Given the description of an element on the screen output the (x, y) to click on. 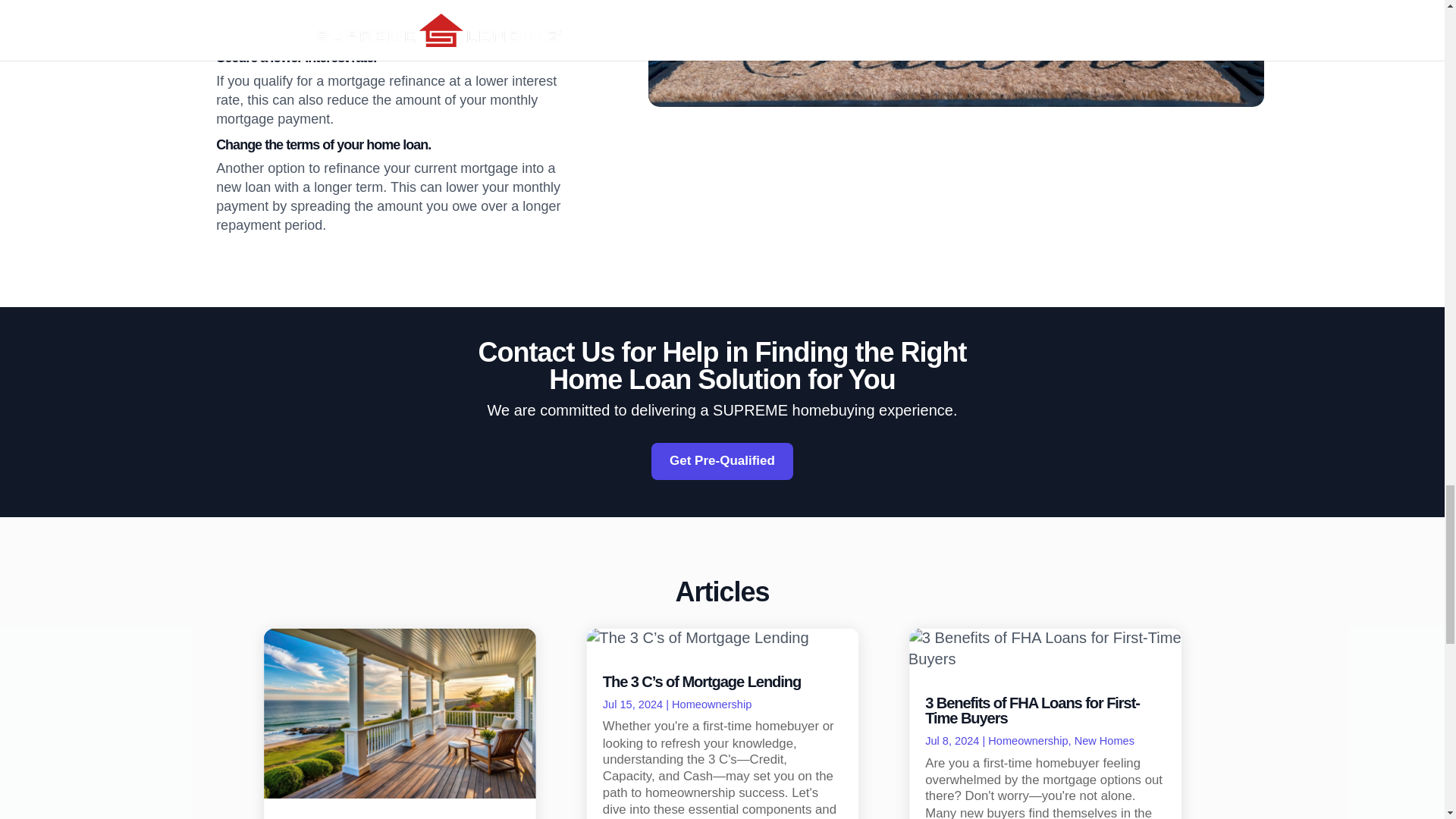
3 Benefits of FHA Loans for First-Time Buyers (1020, 709)
Get Pre-Qualified (721, 461)
Homeownership (1023, 740)
Refi (955, 53)
New Homes (1100, 740)
Homeownership (706, 704)
